Given the description of an element on the screen output the (x, y) to click on. 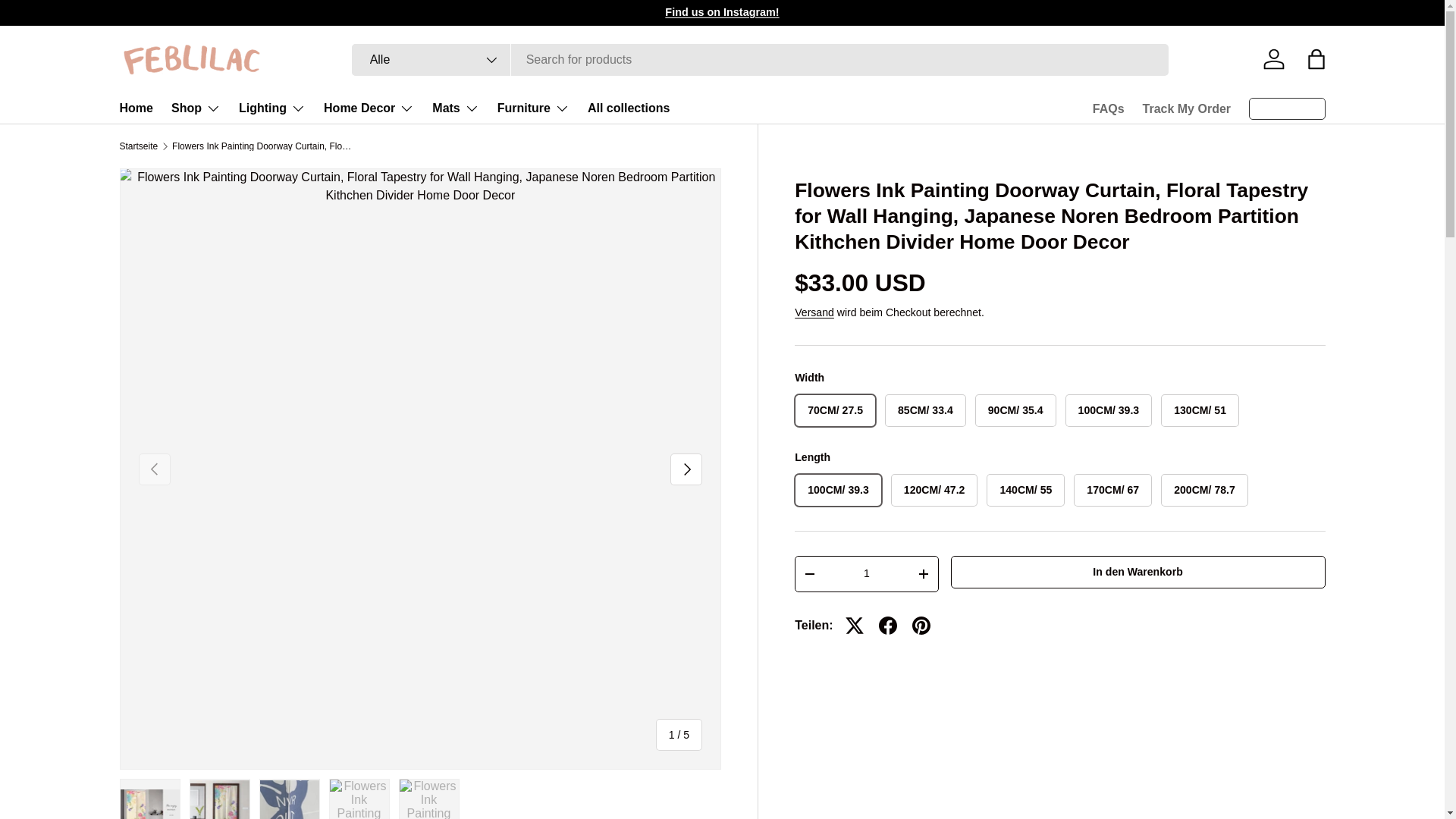
Alle (431, 60)
Auf Facebook teilen (887, 625)
1 (866, 572)
Find us on Instagram! (721, 11)
Einloggen (1273, 59)
Shop (196, 108)
Home (135, 107)
Auf Pinterest pinnen (920, 625)
Auf Twitter twittern (854, 625)
Einkaufstasche (1316, 59)
